Given the description of an element on the screen output the (x, y) to click on. 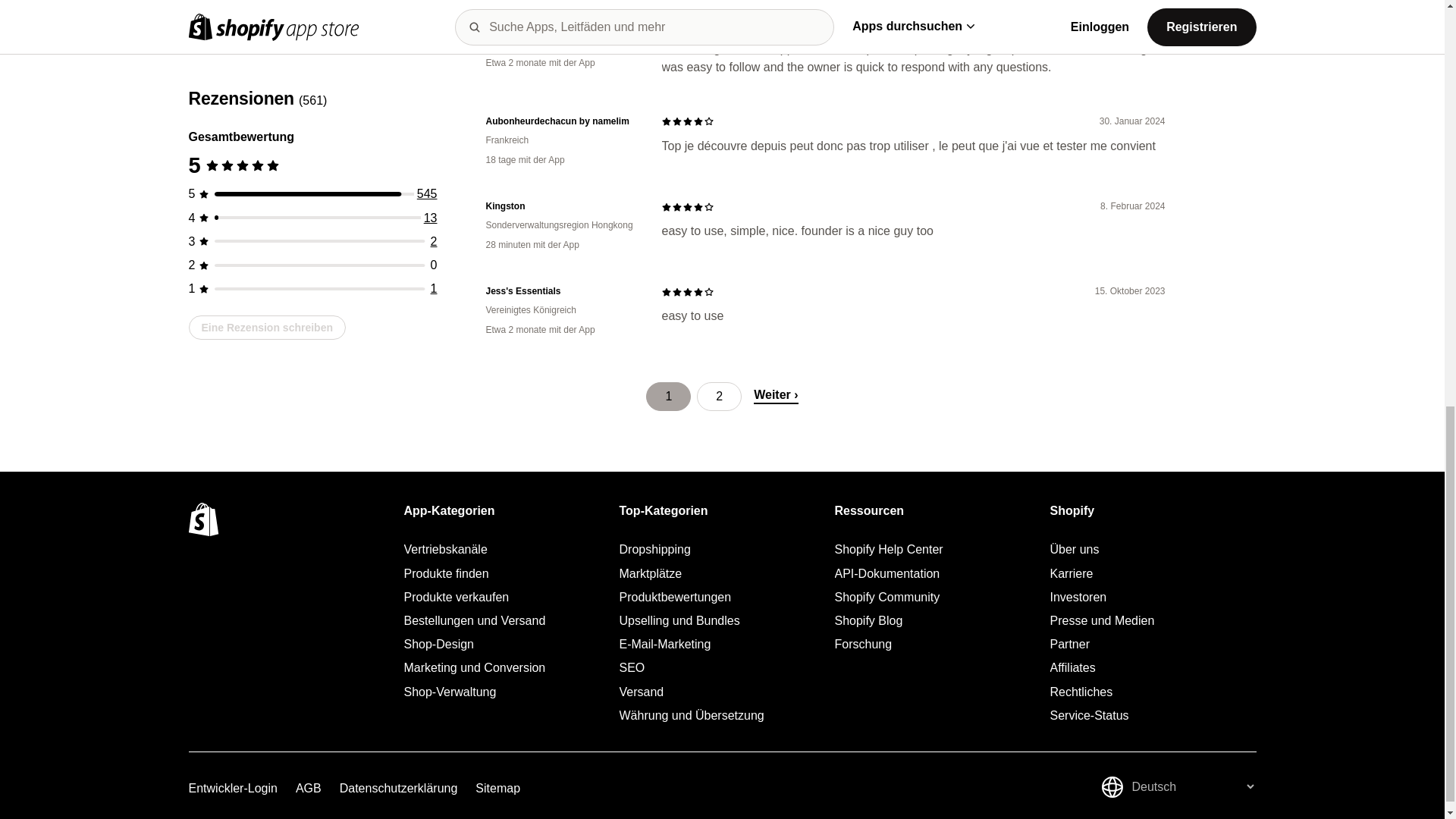
Ocean Star Line (560, 24)
Jess's Essentials (560, 291)
Kingston (560, 205)
Aubonheurdechacun by namelim (560, 121)
